Given the description of an element on the screen output the (x, y) to click on. 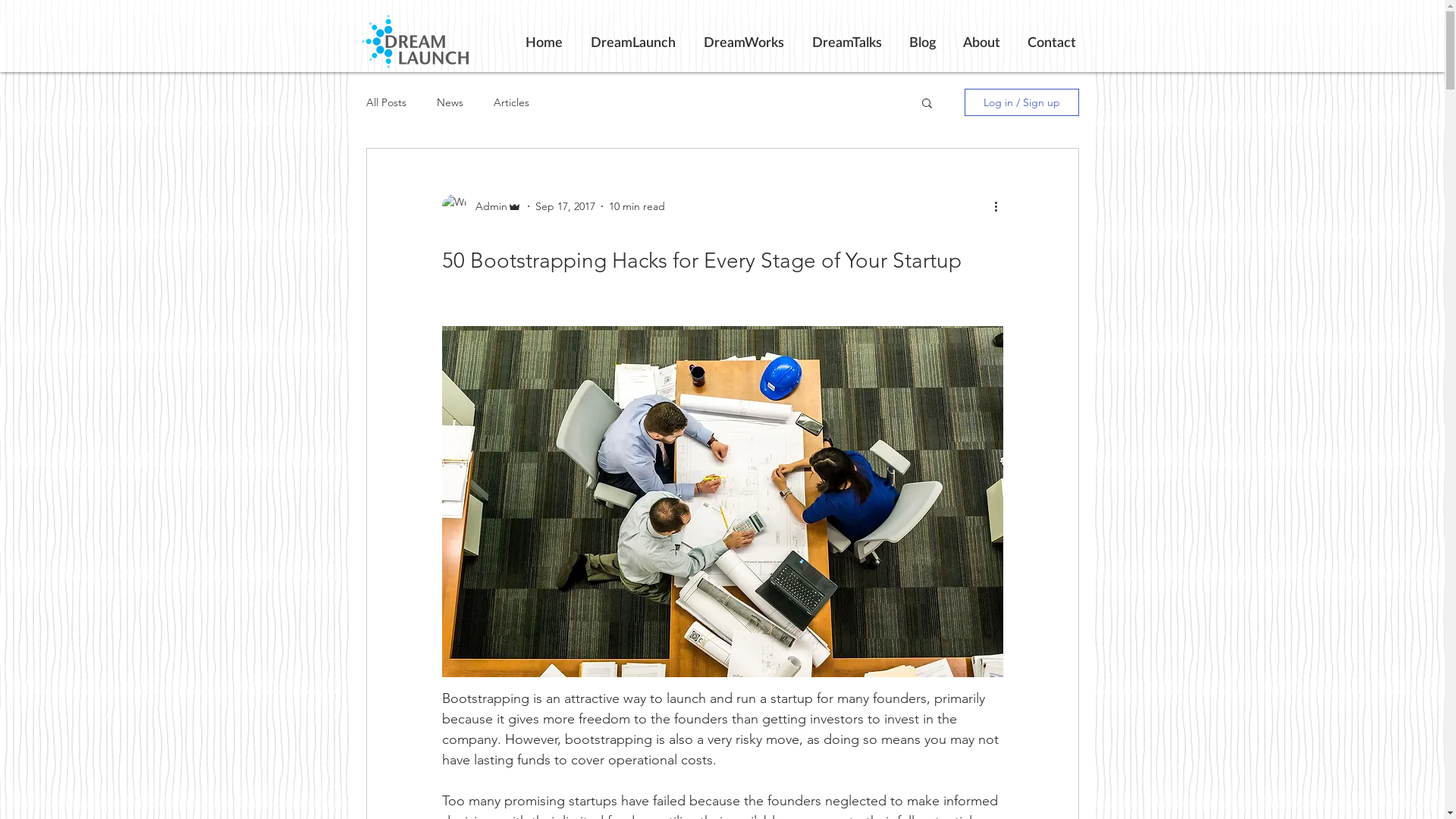
Home Element type: text (543, 41)
News Element type: text (449, 102)
Contact Element type: text (1050, 41)
Log in / Sign up Element type: text (1021, 102)
DreamTalks Element type: text (845, 41)
About Element type: text (981, 41)
Articles Element type: text (510, 102)
Blog Element type: text (921, 41)
All Posts Element type: text (385, 102)
DreamLogo-Adj.png Element type: hover (414, 41)
